Given the description of an element on the screen output the (x, y) to click on. 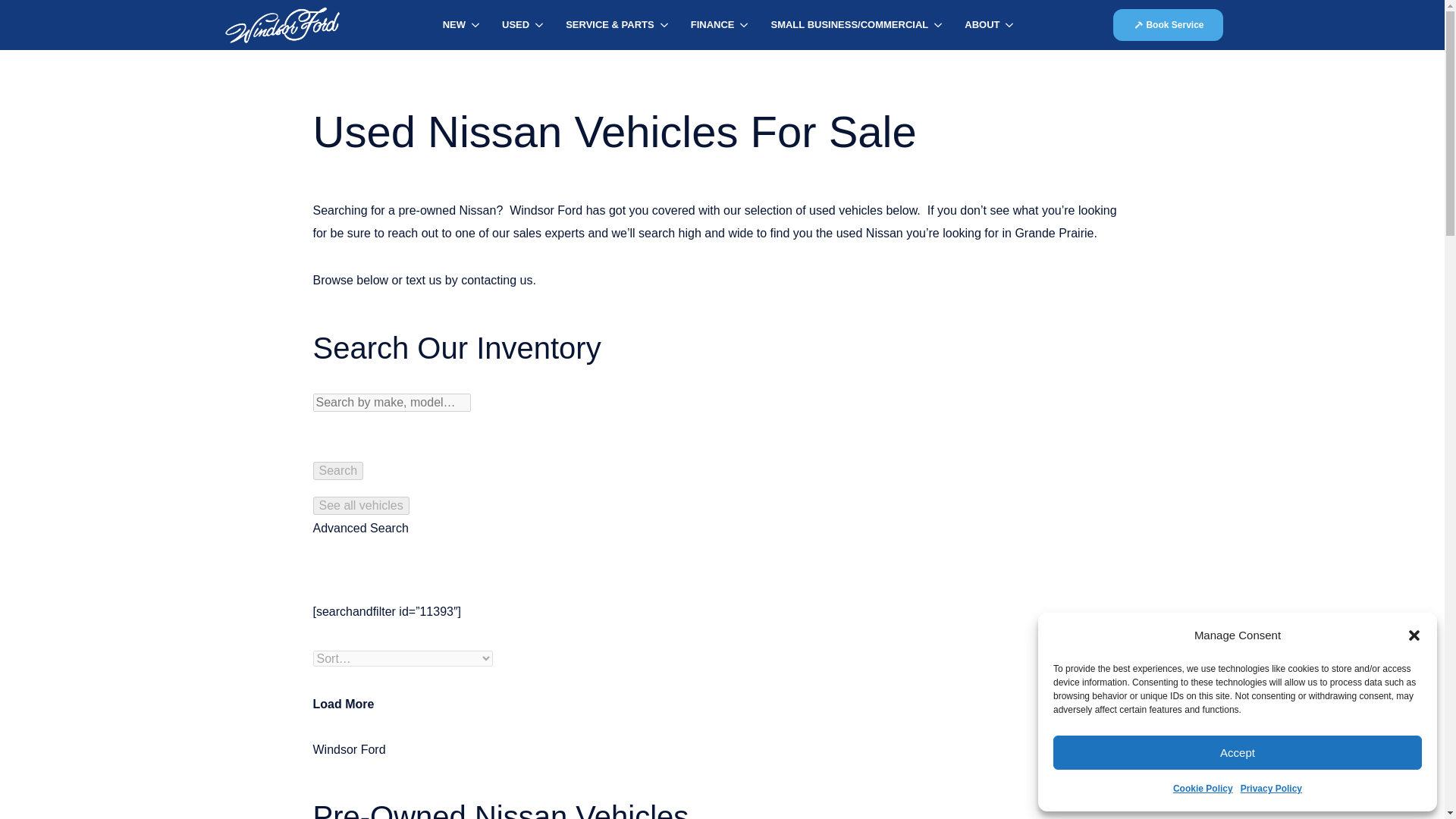
Privacy Policy (1270, 788)
Cookie Policy (1203, 788)
USED (509, 24)
Accept (1237, 752)
